Given the description of an element on the screen output the (x, y) to click on. 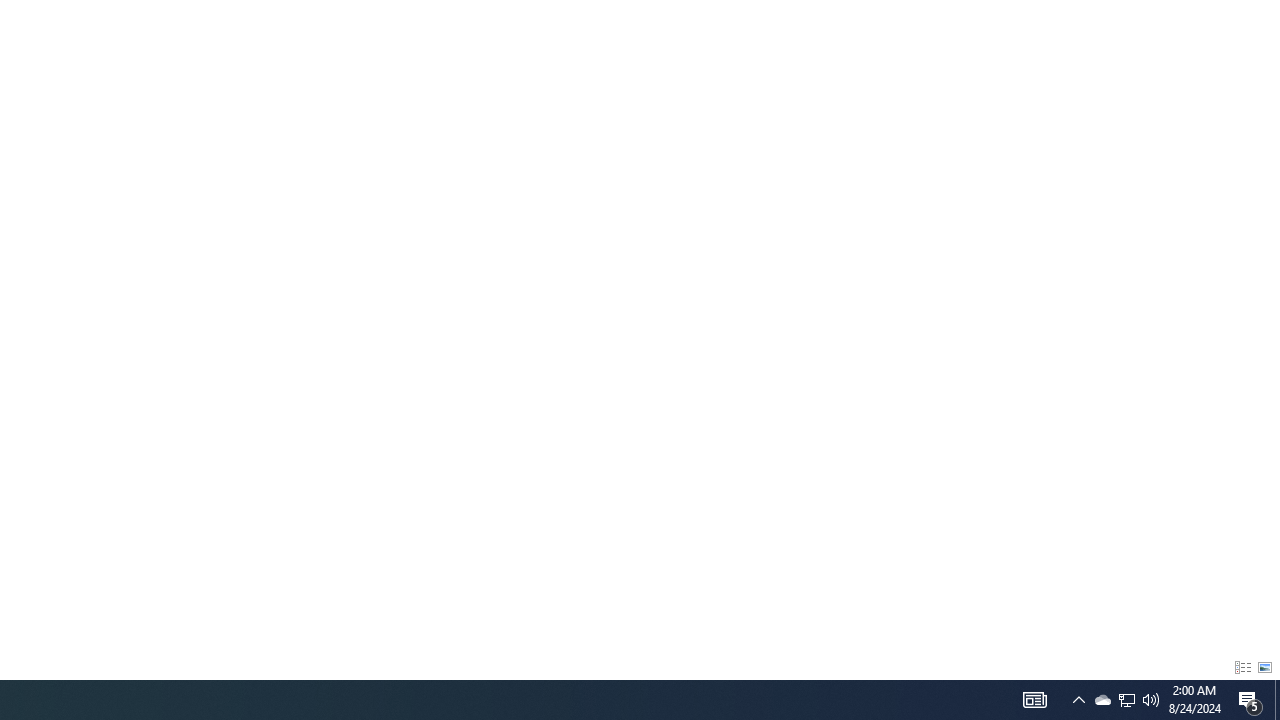
Details (1242, 667)
Large Icons (1265, 667)
